Given the description of an element on the screen output the (x, y) to click on. 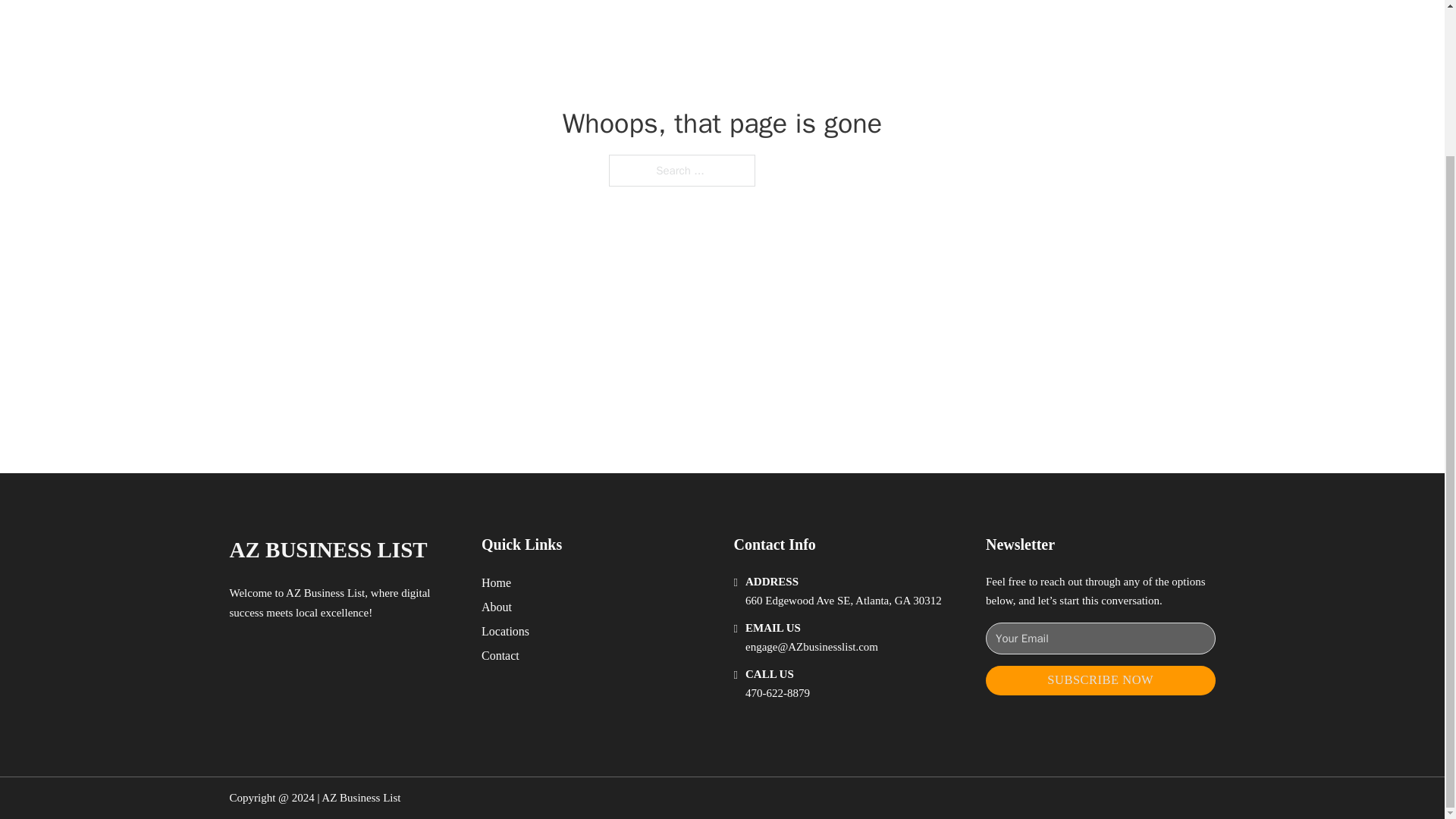
Home (496, 582)
AZ BUSINESS LIST (327, 549)
Contact (500, 655)
470-622-8879 (777, 693)
SUBSCRIBE NOW (1100, 680)
Locations (505, 630)
About (496, 607)
